Given the description of an element on the screen output the (x, y) to click on. 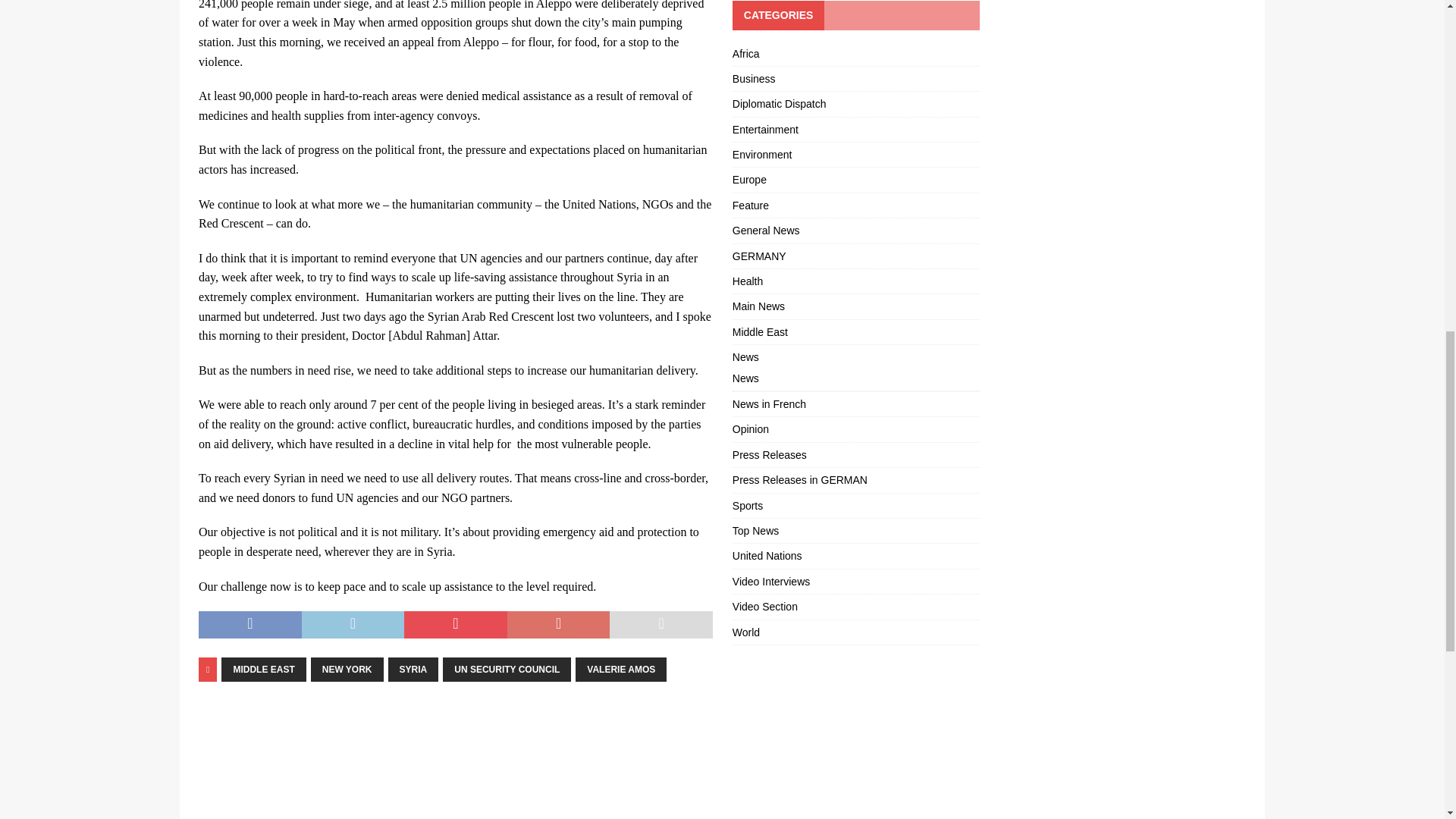
MIDDLE EAST (263, 669)
SYRIA (413, 669)
UN SECURITY COUNCIL (506, 669)
NEW YORK (347, 669)
VALERIE AMOS (620, 669)
